Given the description of an element on the screen output the (x, y) to click on. 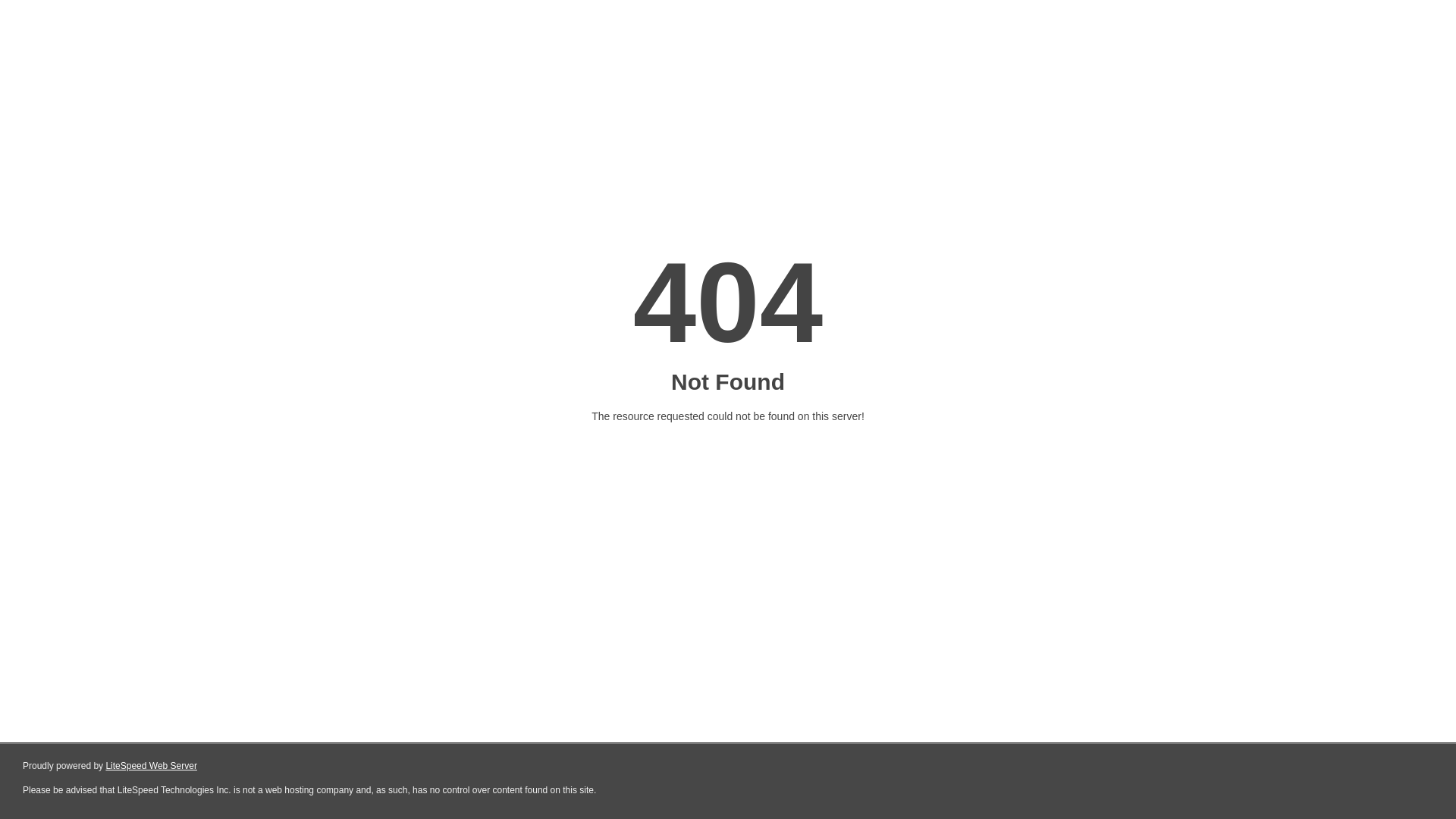
LiteSpeed Web Server Element type: text (151, 765)
